Given the description of an element on the screen output the (x, y) to click on. 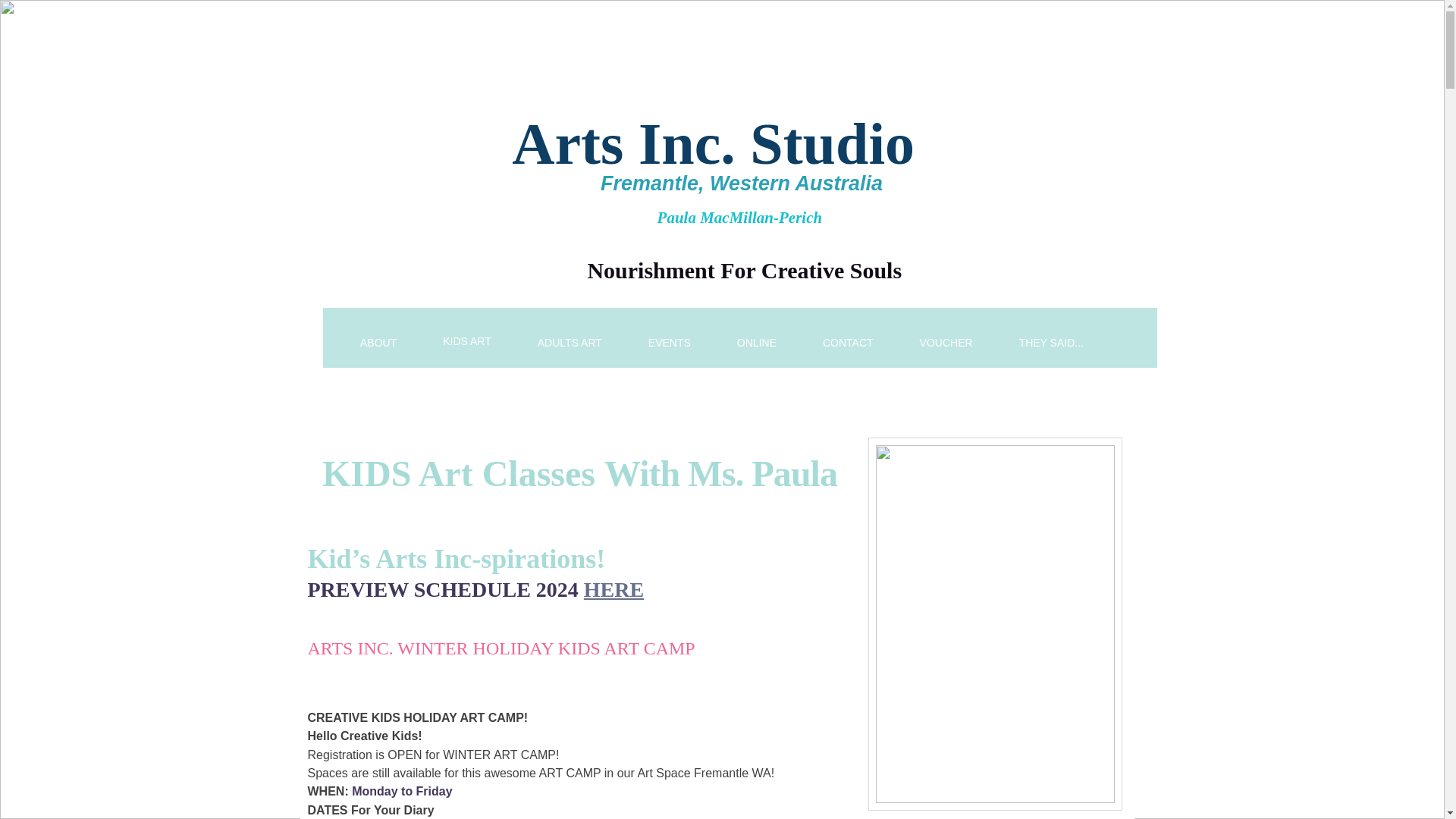
ONLINE (756, 343)
VOUCHER (945, 343)
EVENTS (668, 343)
CONTACT (847, 343)
ABOUT (377, 343)
KIDS ART (467, 340)
THEY SAID... (1050, 343)
ADULTS ART (568, 343)
